Given the description of an element on the screen output the (x, y) to click on. 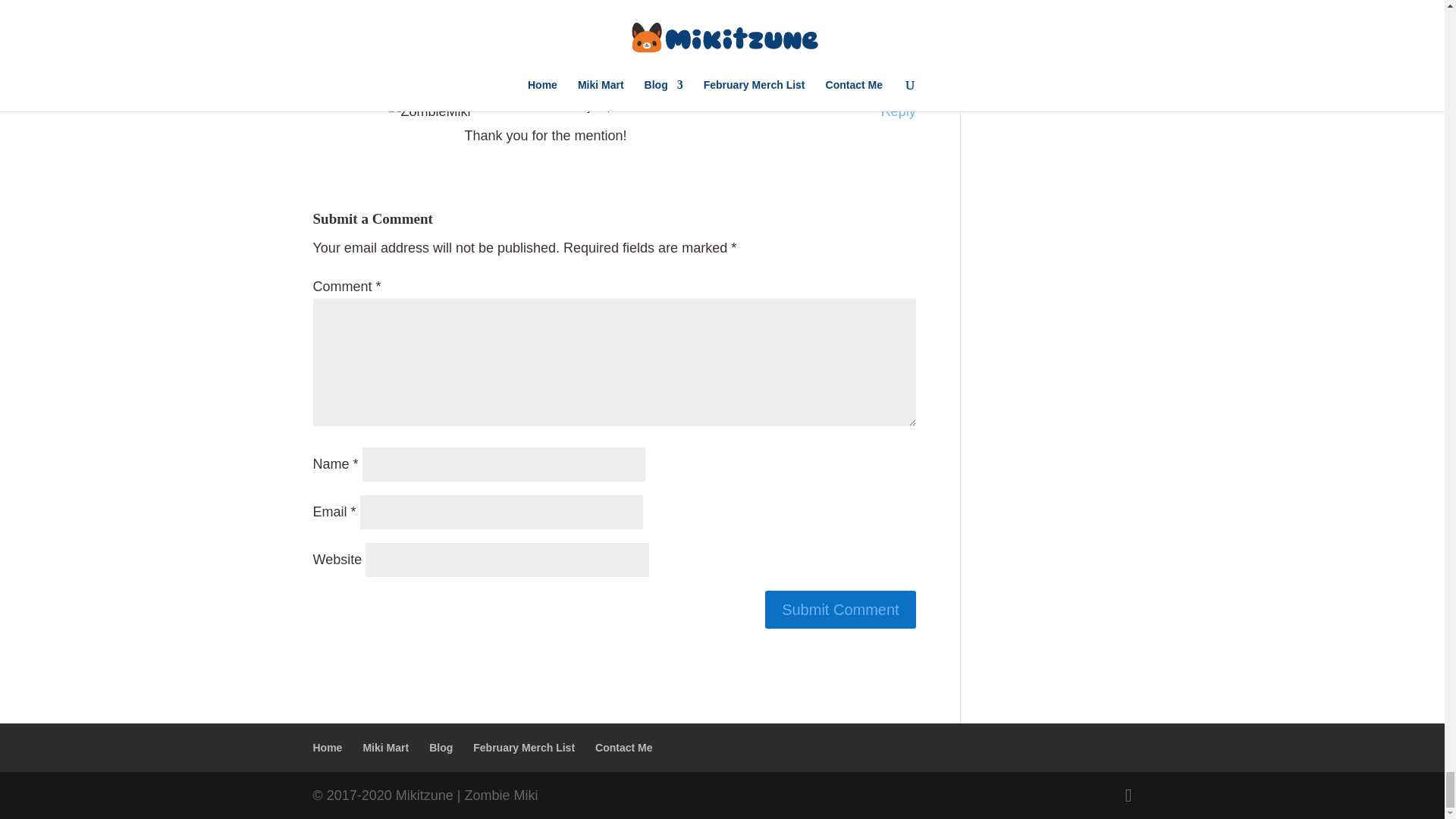
Submit Comment (840, 609)
Reply (897, 111)
Submit Comment (840, 609)
